Given the description of an element on the screen output the (x, y) to click on. 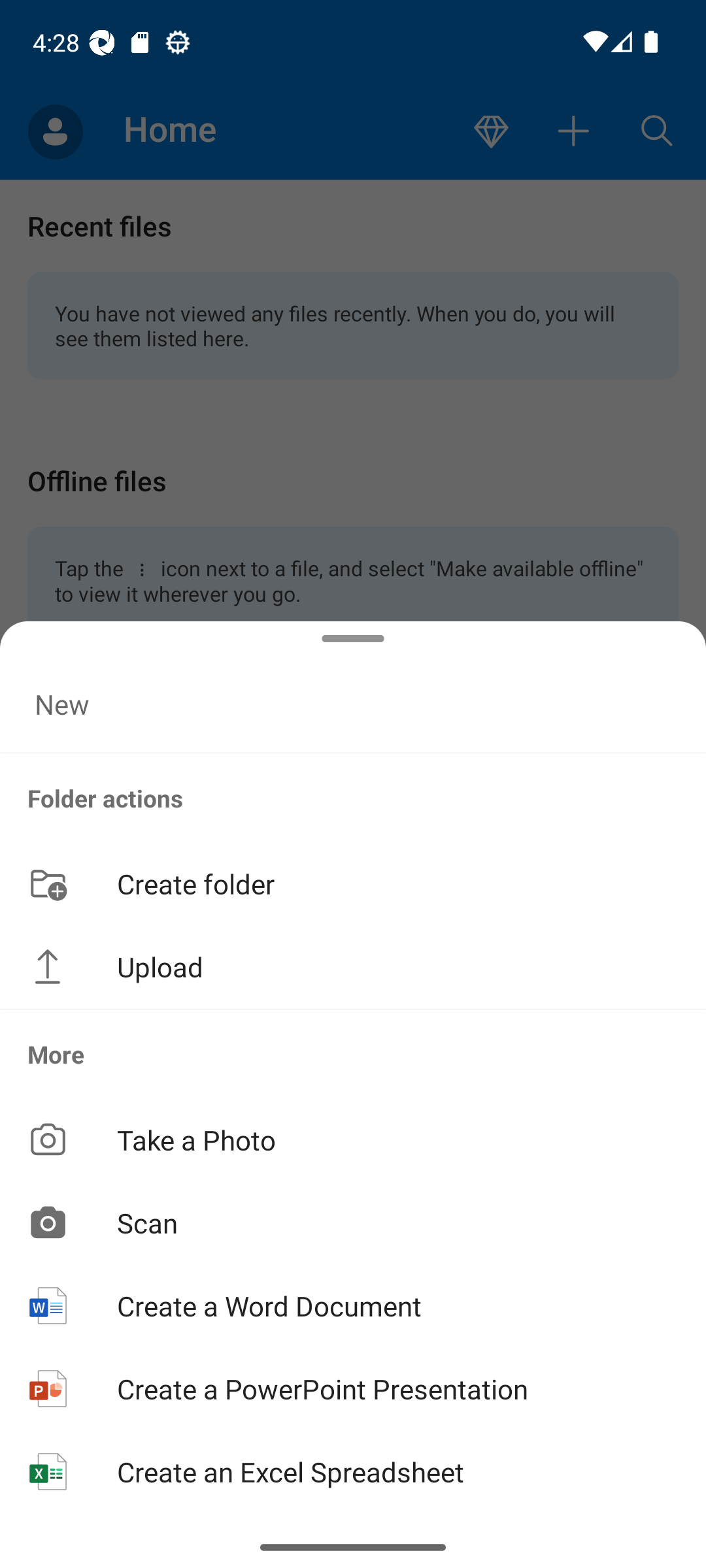
Create folder button Create folder (353, 883)
Upload button Upload (353, 966)
Take a Photo button Take a Photo (353, 1138)
Scan button Scan (353, 1221)
